Given the description of an element on the screen output the (x, y) to click on. 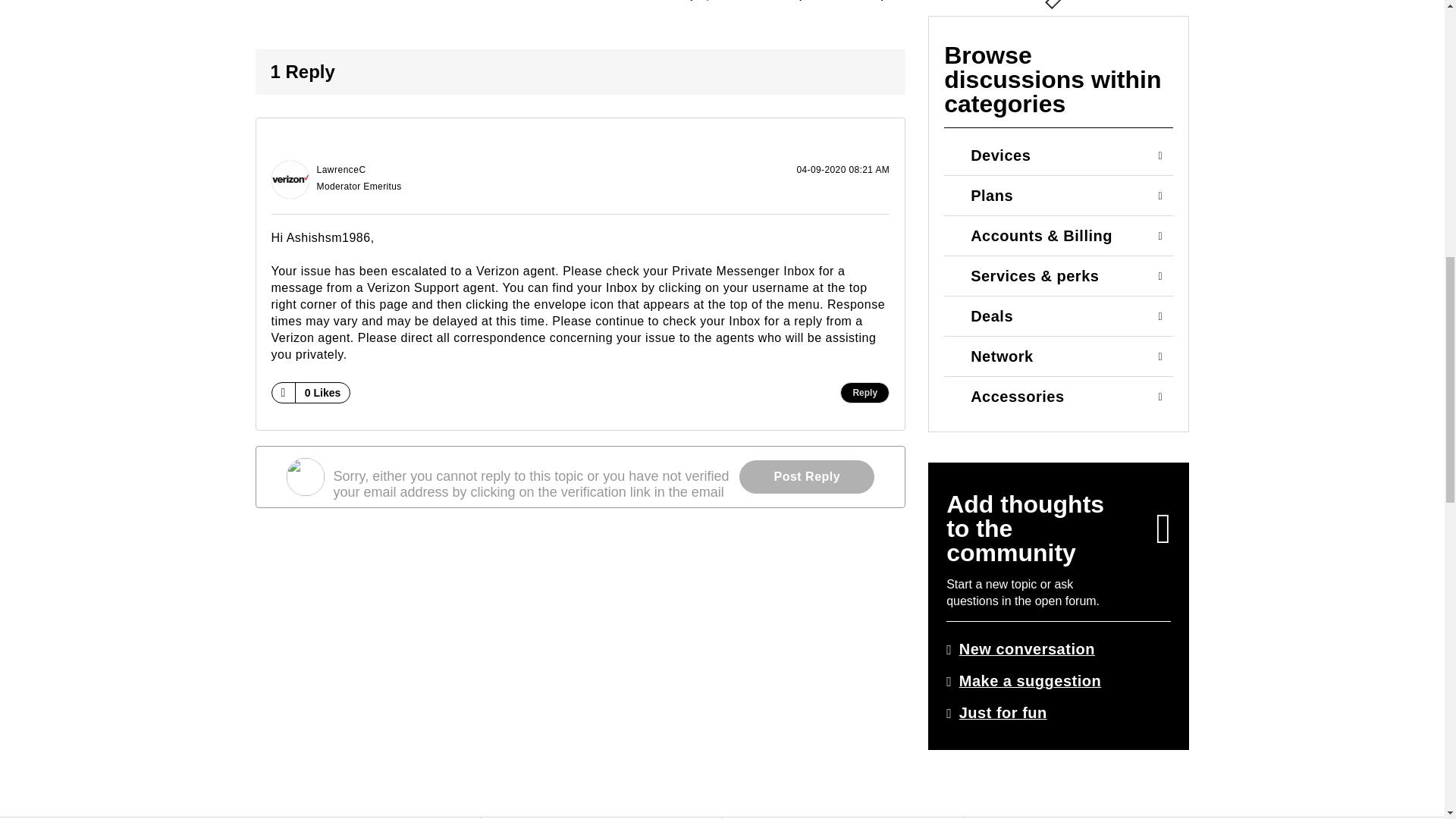
Can not verify FIOS account on Verizon Up app (773, 4)
LawrenceC (289, 179)
Where to claim Visa prepaid gift card? (874, 4)
